Given the description of an element on the screen output the (x, y) to click on. 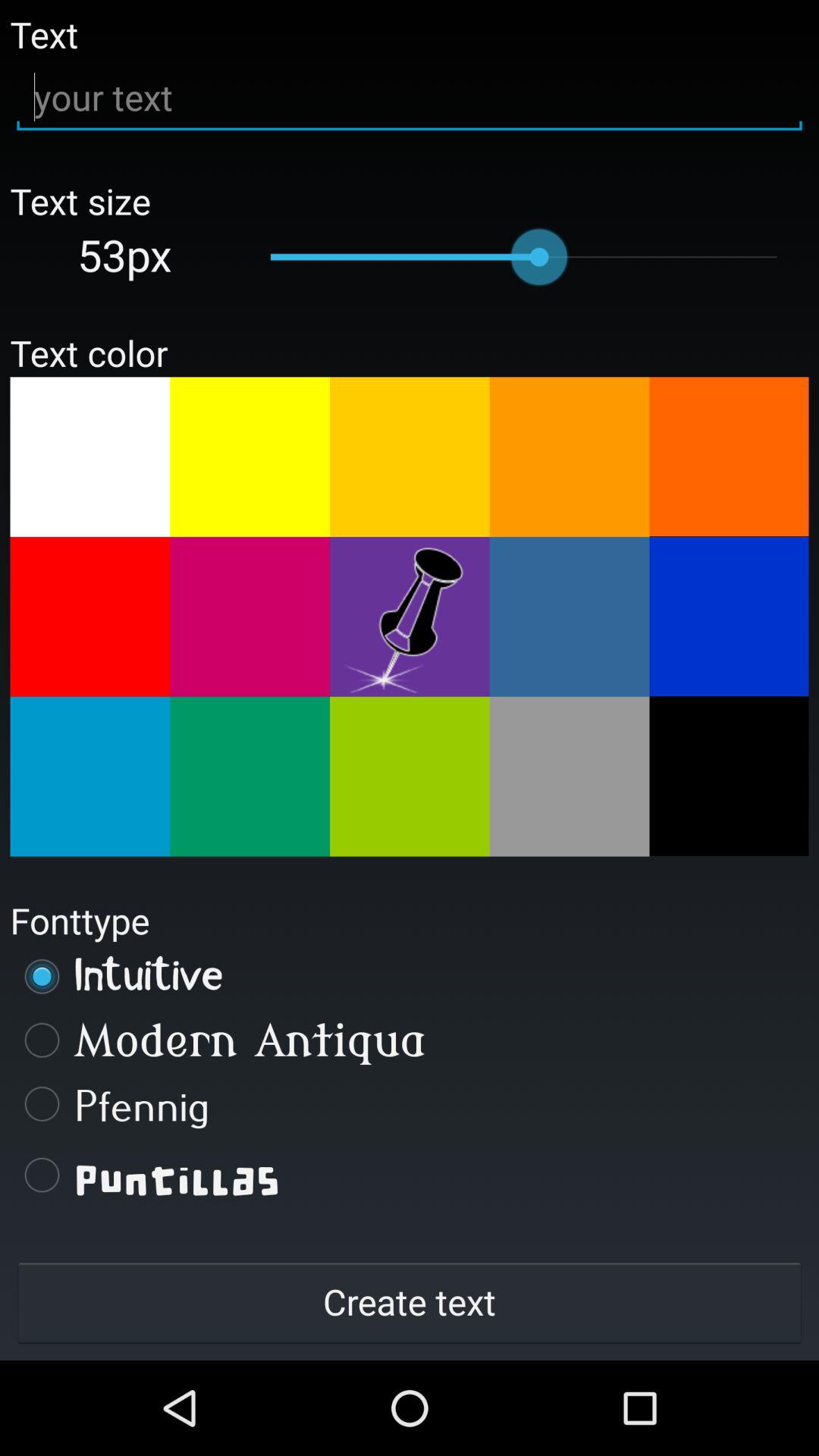
enter a text to create (409, 97)
